Given the description of an element on the screen output the (x, y) to click on. 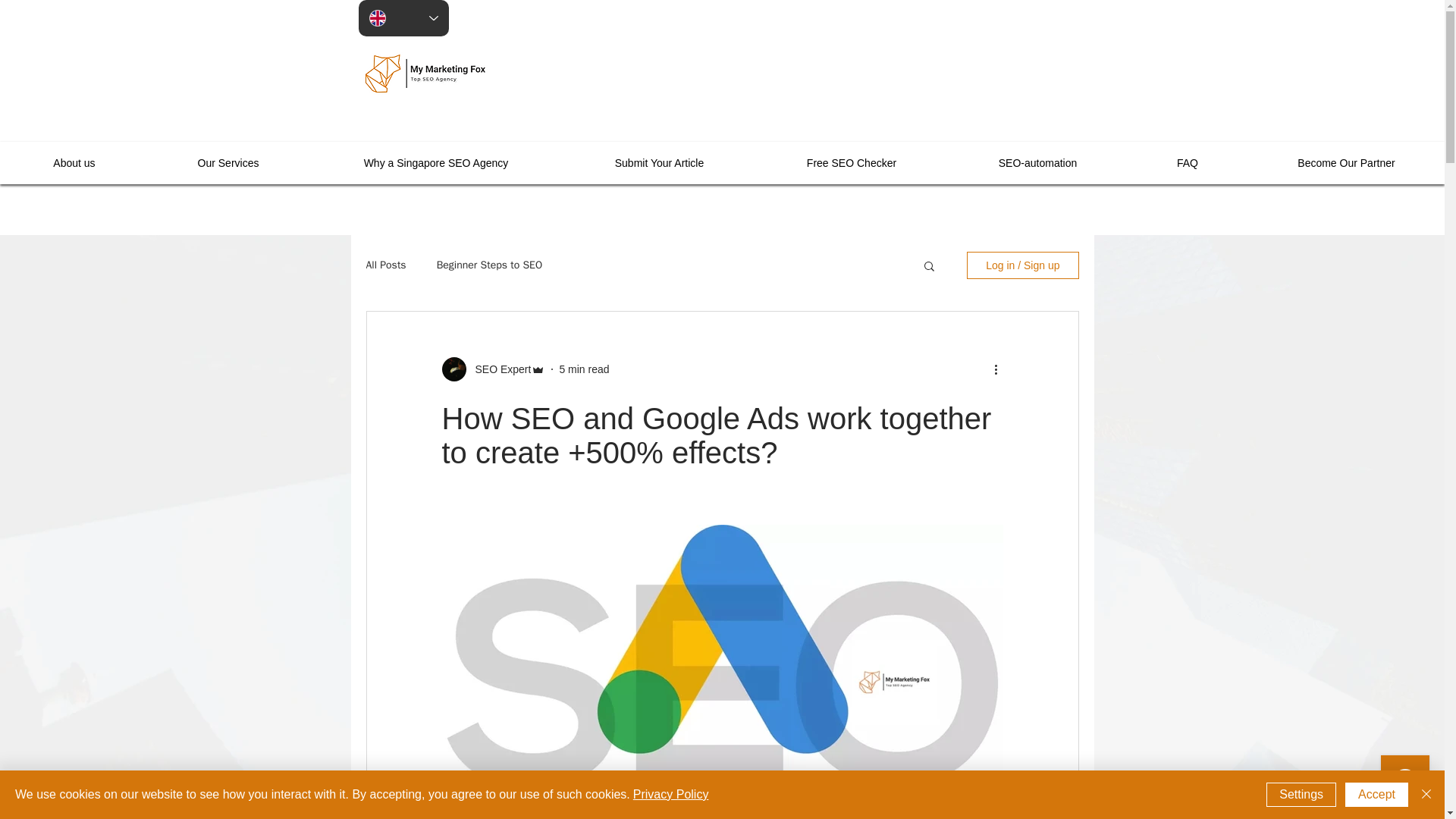
Free SEO Checker (851, 162)
All Posts (385, 264)
Embedded Content (1185, 87)
About us (74, 162)
MMF New.PNG (424, 73)
Beginner Steps to SEO (489, 264)
SEO Expert (498, 368)
Why a Singapore SEO Agency (435, 162)
Embedded Content (892, 162)
SEO-automation (1037, 162)
5 min read (583, 368)
SEO Expert (492, 369)
Submit Your Article (659, 162)
FAQ (1187, 162)
Our Services (227, 162)
